Given the description of an element on the screen output the (x, y) to click on. 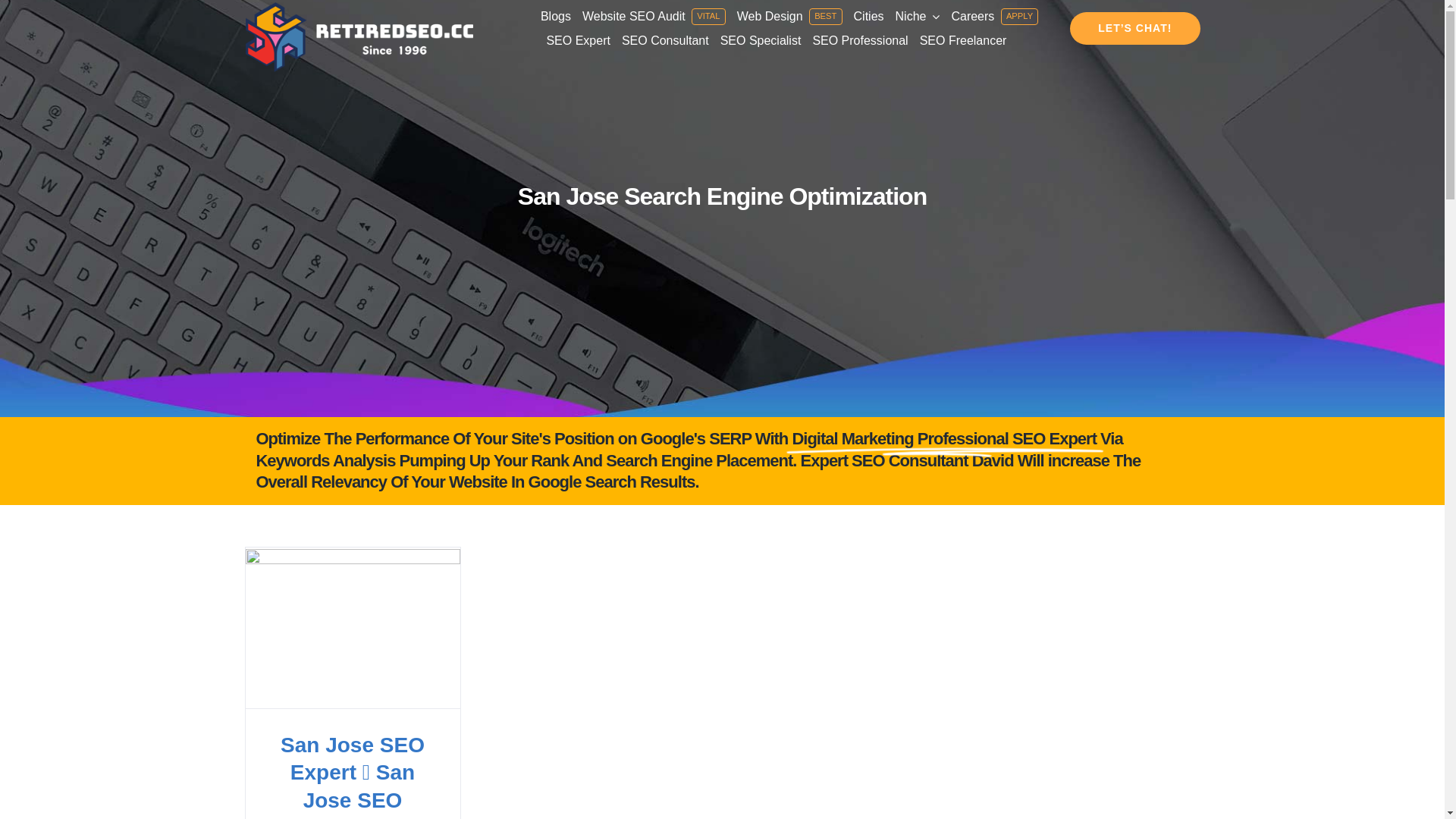
Careers
APPLY Element type: text (994, 16)
SEO Freelancer Element type: text (963, 40)
Website SEO Audit
VITAL Element type: text (653, 16)
Web Design
BEST Element type: text (789, 16)
SEO Expert Element type: text (577, 40)
Blogs Element type: text (555, 16)
SEO Consultant Element type: text (665, 40)
Cities Element type: text (868, 16)
Niche Element type: text (917, 16)
SEO Specialist Element type: text (760, 40)
SEO Professional Element type: text (859, 40)
